Given the description of an element on the screen output the (x, y) to click on. 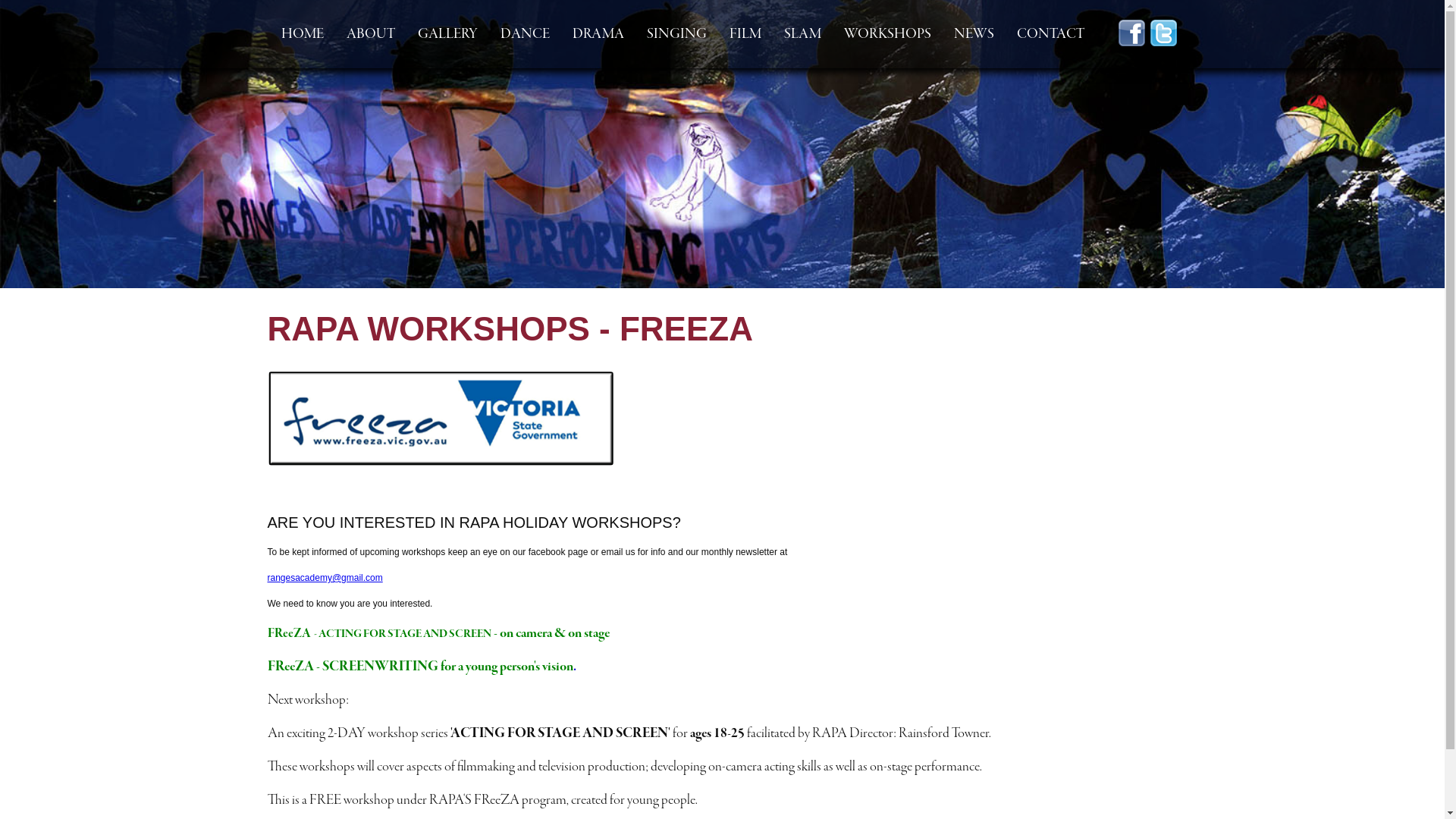
DRAMA Element type: text (598, 33)
DANCE Element type: text (524, 33)
WORKSHOPS Element type: text (887, 33)
SLAM Element type: text (801, 33)
rangesacademy@gmail.com Element type: text (324, 577)
NEWS Element type: text (972, 33)
GALLERY Element type: text (447, 33)
FILM Element type: text (744, 33)
ABOUT Element type: text (370, 33)
HOME Element type: text (302, 33)
CONTACT Element type: text (1050, 33)
SINGING Element type: text (676, 33)
